Given the description of an element on the screen output the (x, y) to click on. 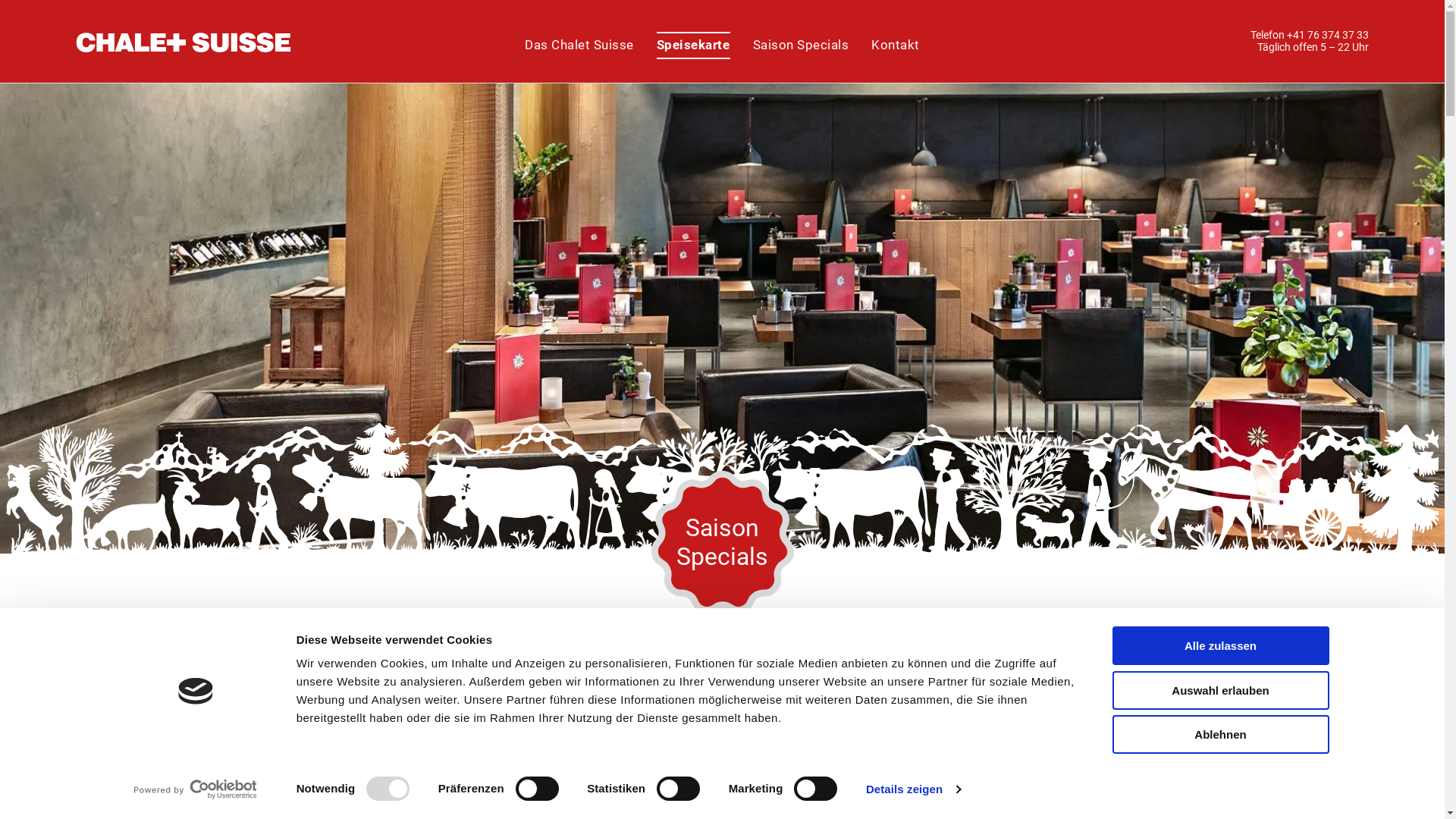
Kontakt Element type: text (895, 45)
Das Chalet Suisse Element type: text (579, 45)
Alle zulassen Element type: text (1219, 645)
Ablehnen Element type: text (1219, 734)
Auswahl erlauben Element type: text (1219, 689)
Speisekarte Element type: text (693, 45)
Saison Specials Element type: text (800, 45)
Saison
Specials Element type: text (722, 541)
Details zeigen Element type: text (913, 789)
